Given the description of an element on the screen output the (x, y) to click on. 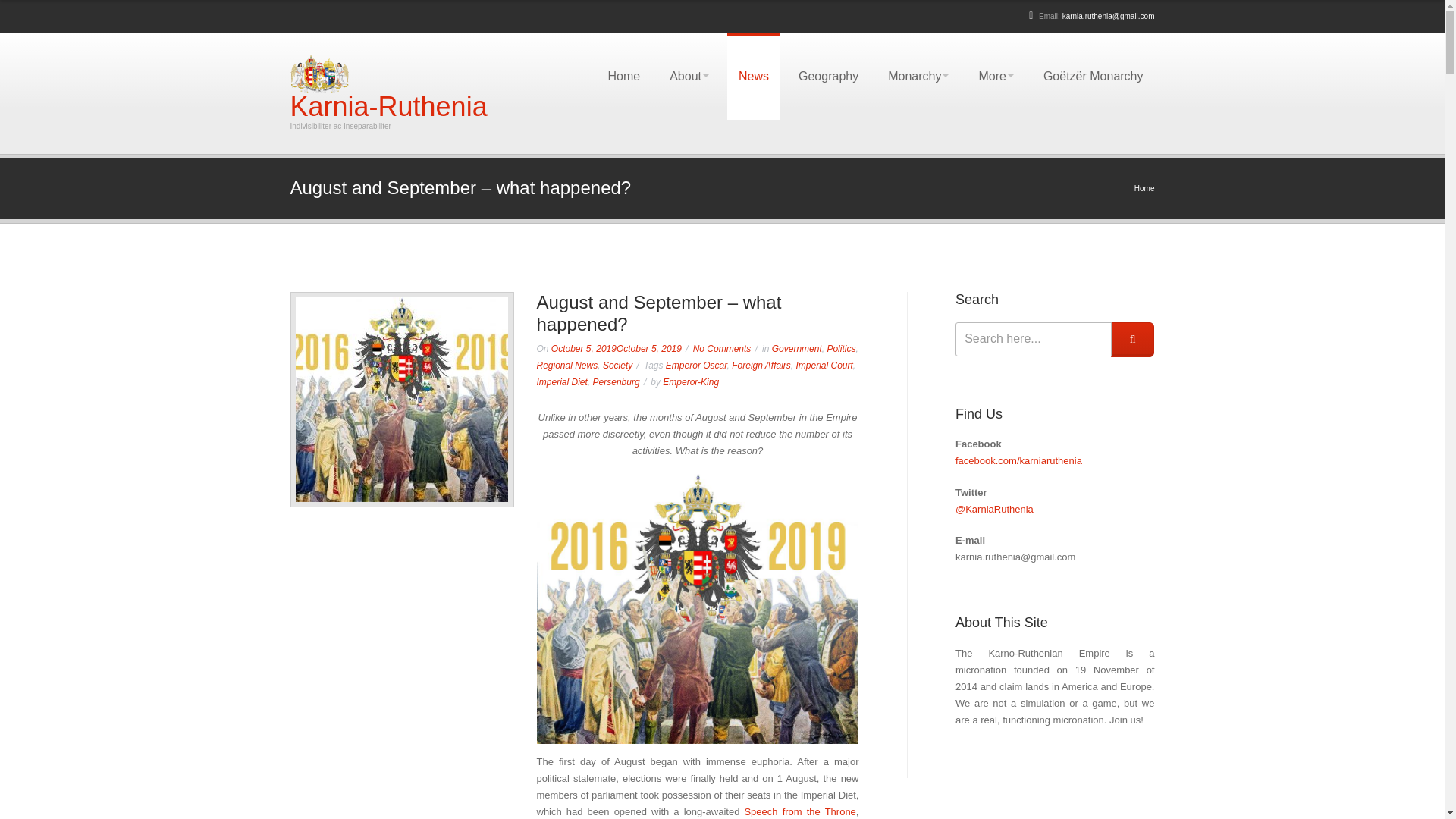
Geography (828, 76)
Monarchy (917, 76)
Karnia-Ruthenia (387, 106)
